Given the description of an element on the screen output the (x, y) to click on. 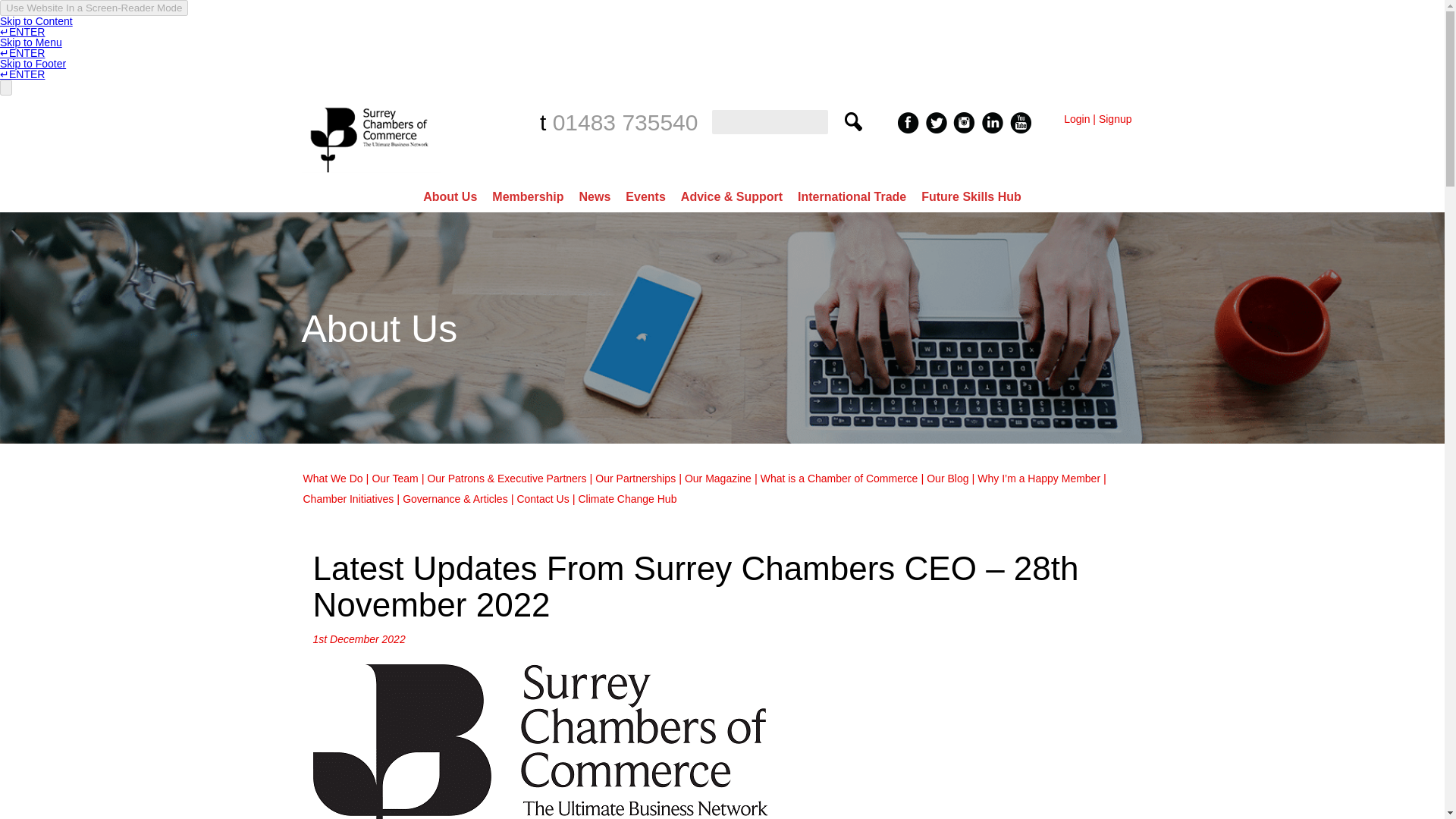
Login (1076, 119)
Membership (527, 196)
Signup (1115, 119)
About Us (449, 196)
Surrey Chambers (371, 176)
01483 735540 (625, 122)
